Given the description of an element on the screen output the (x, y) to click on. 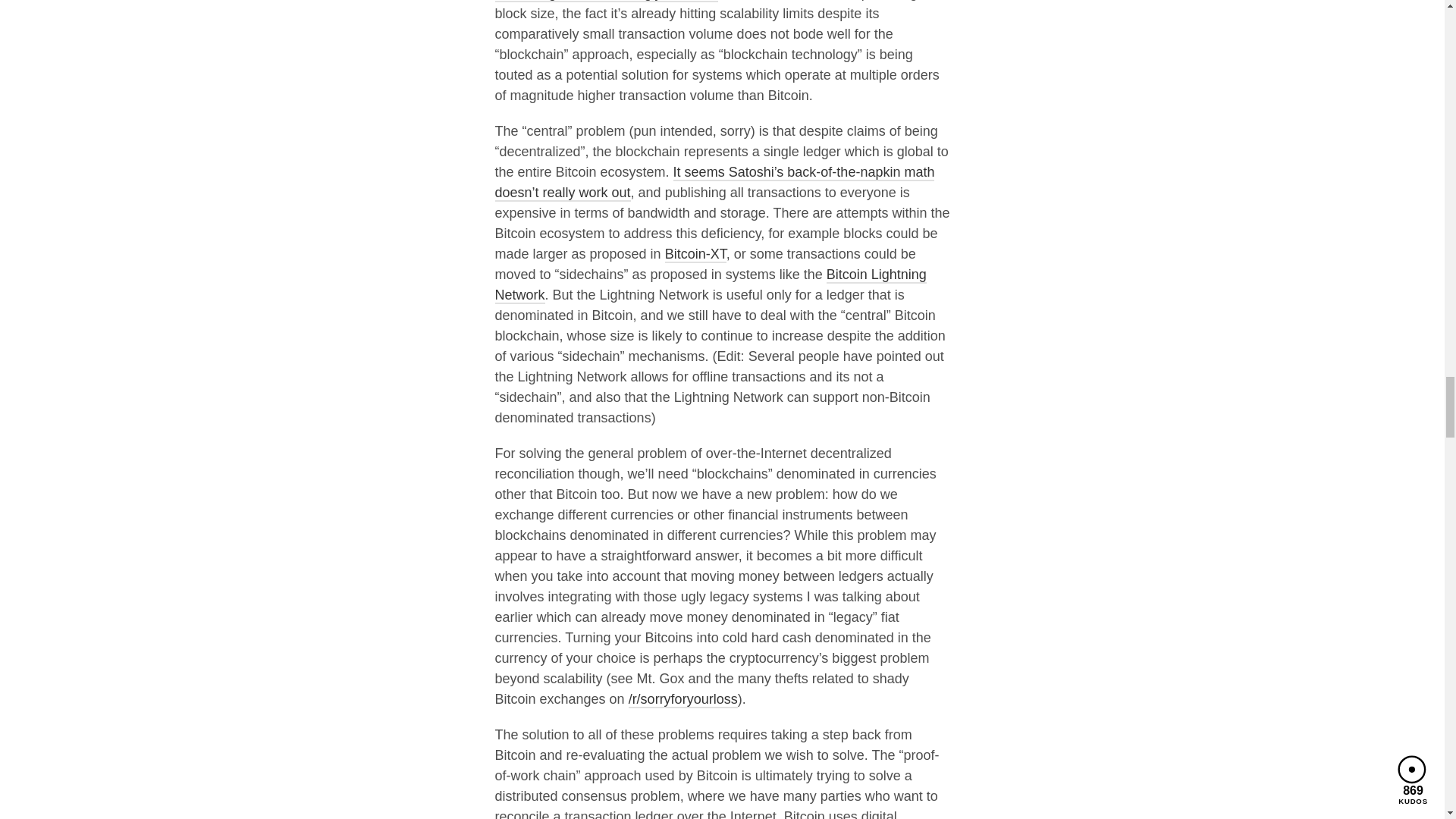
Bitcoin-XT (695, 254)
Bitcoin Lightning Network (710, 284)
